Given the description of an element on the screen output the (x, y) to click on. 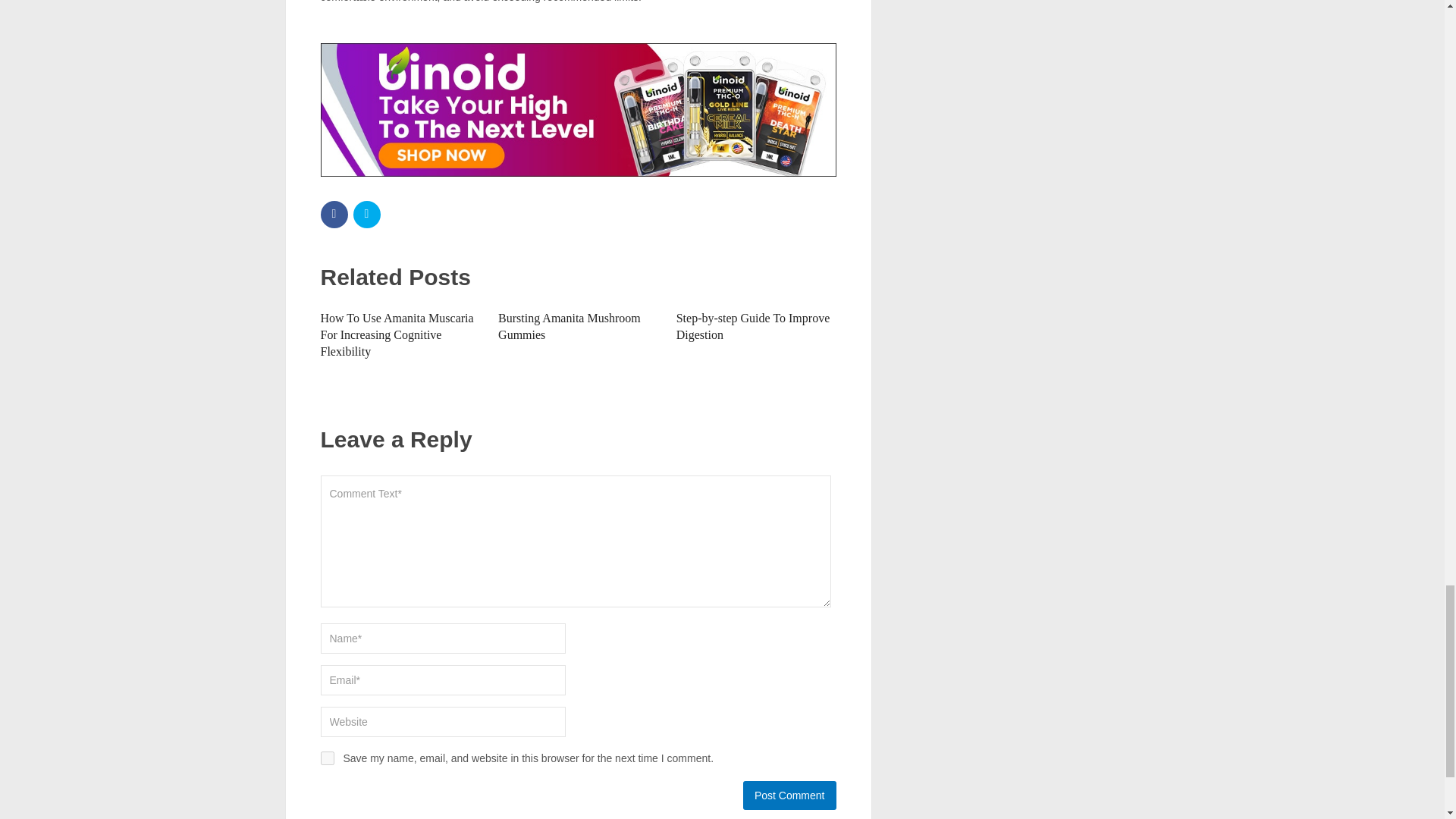
Step-by-step Guide To Improve Digestion (753, 326)
Post Comment (788, 795)
yes (326, 757)
Bursting Amanita Mushroom Gummies (568, 326)
Post Comment (788, 795)
Bursting Amanita Mushroom Gummies (568, 326)
Step-by-step Guide To Improve Digestion (753, 326)
